Given the description of an element on the screen output the (x, y) to click on. 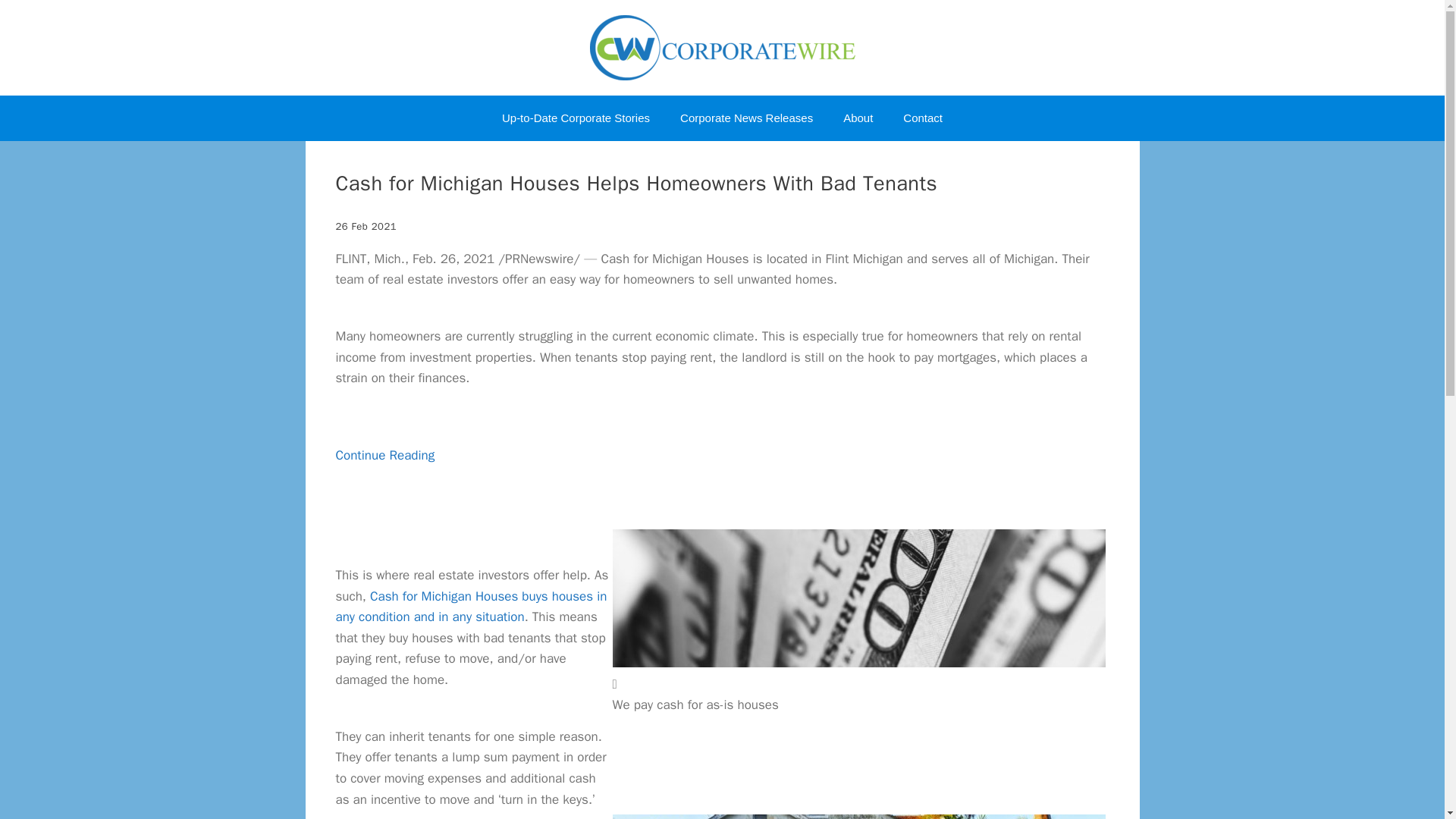
About (858, 117)
Contact (923, 117)
We pay cash for as-is houses (858, 598)
Continue Reading (383, 476)
Corporate News Releases (746, 117)
Up-to-Date Corporate Stories (575, 117)
Continue Reading (383, 476)
